Given the description of an element on the screen output the (x, y) to click on. 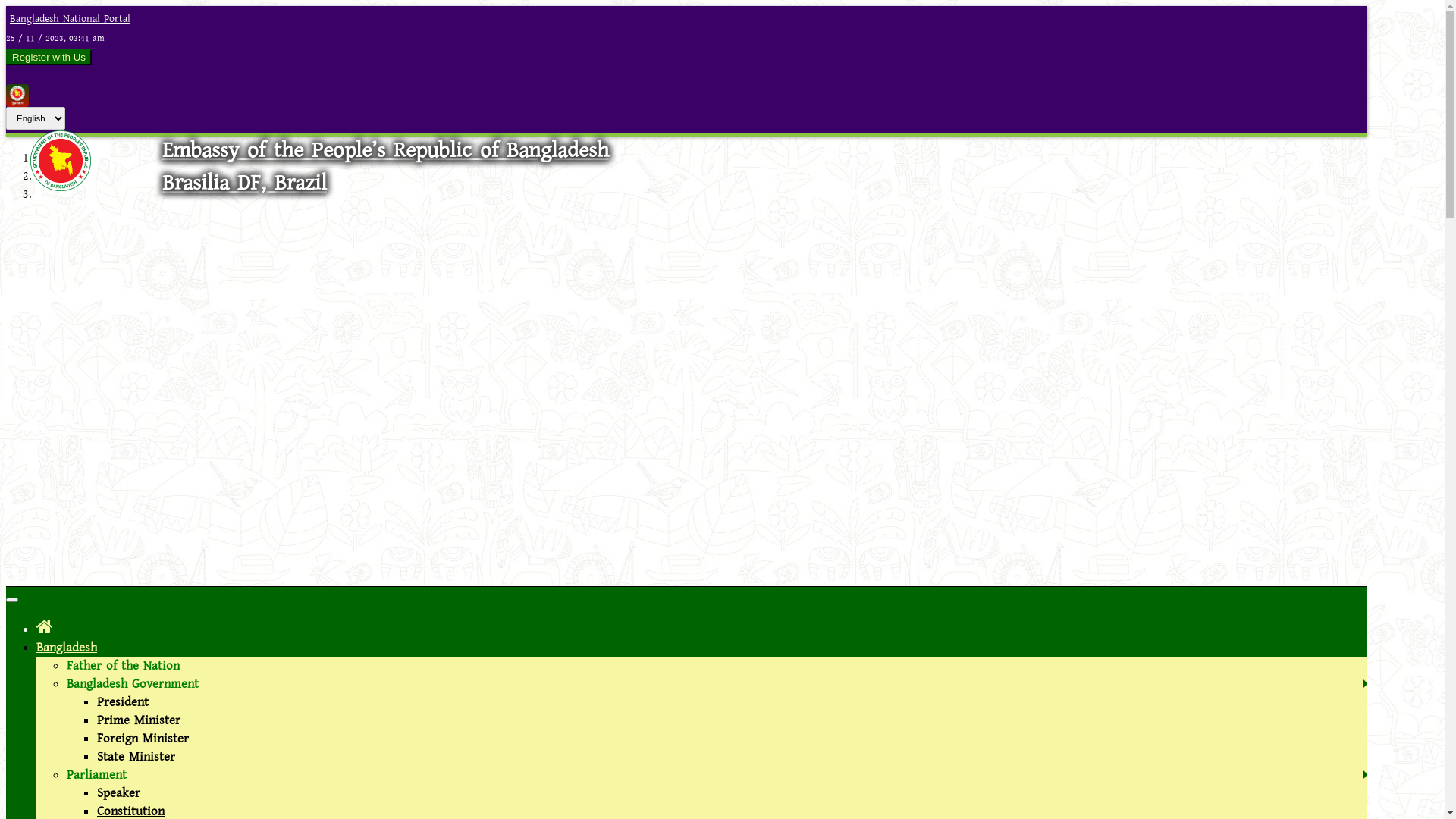
Bangladesh Government Element type: text (132, 683)
Bangladesh Element type: text (66, 647)
Bangladesh National Portal Element type: text (68, 18)
President Element type: text (122, 702)
Father of the Nation Element type: text (122, 665)
Foreign Minister Element type: text (142, 738)
Parliament Element type: text (96, 774)
Speaker Element type: text (118, 793)
Home Element type: hover (44, 627)
State Minister Element type: text (136, 756)
Logo Element type: hover (60, 186)
Register with Us Element type: text (48, 57)
Register with Us Element type: text (48, 56)
Prime Minister Element type: text (138, 720)
